Given the description of an element on the screen output the (x, y) to click on. 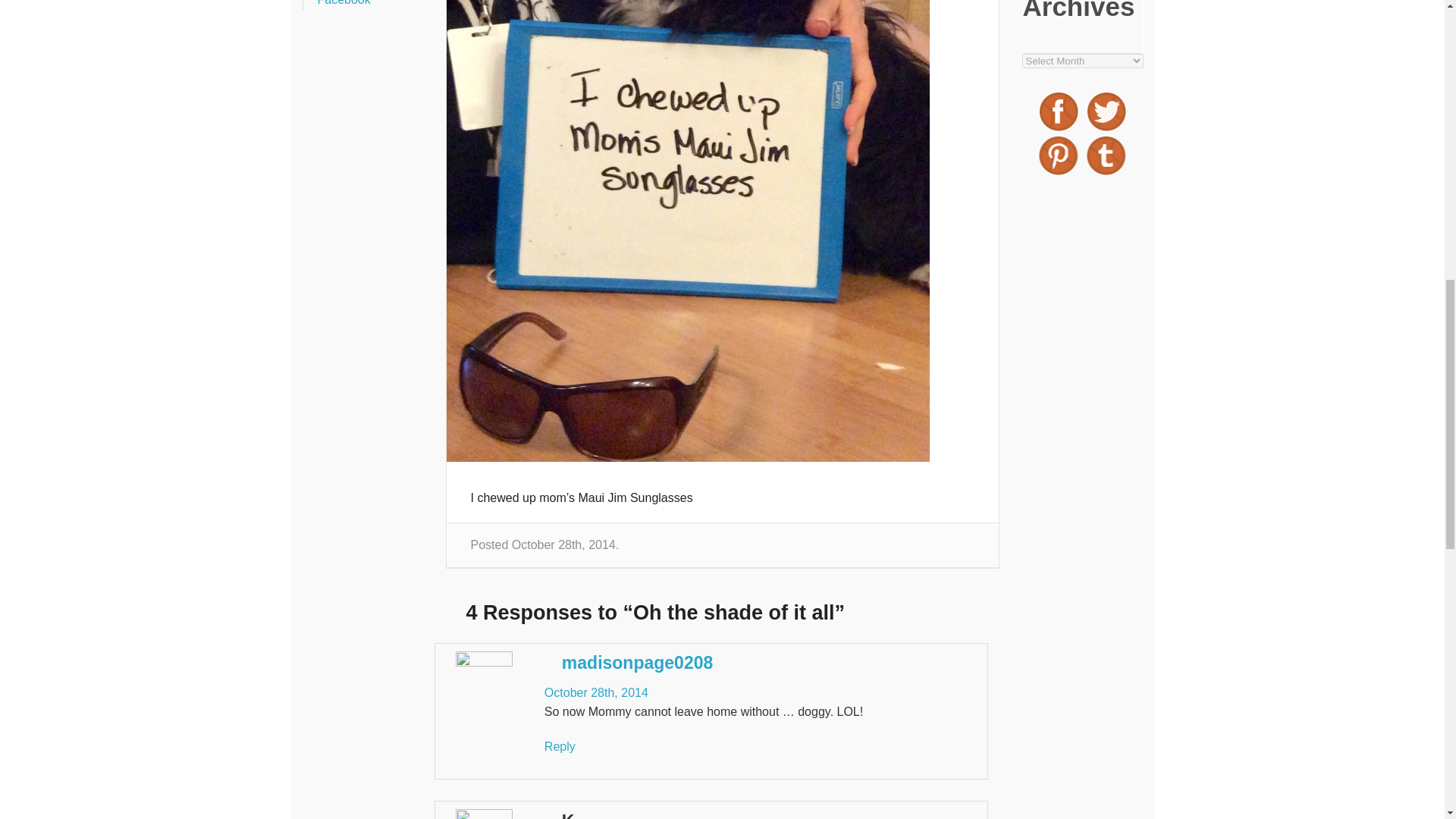
October 28th, 2014 (595, 692)
Facebook (343, 2)
Follow us on Facebook! (1058, 111)
Follow us on Tumblr! (1106, 155)
Follow us on Twitter! (1106, 111)
Follow us on Pinterest! (1058, 155)
Reply (559, 746)
madisonpage0208 (637, 662)
